Given the description of an element on the screen output the (x, y) to click on. 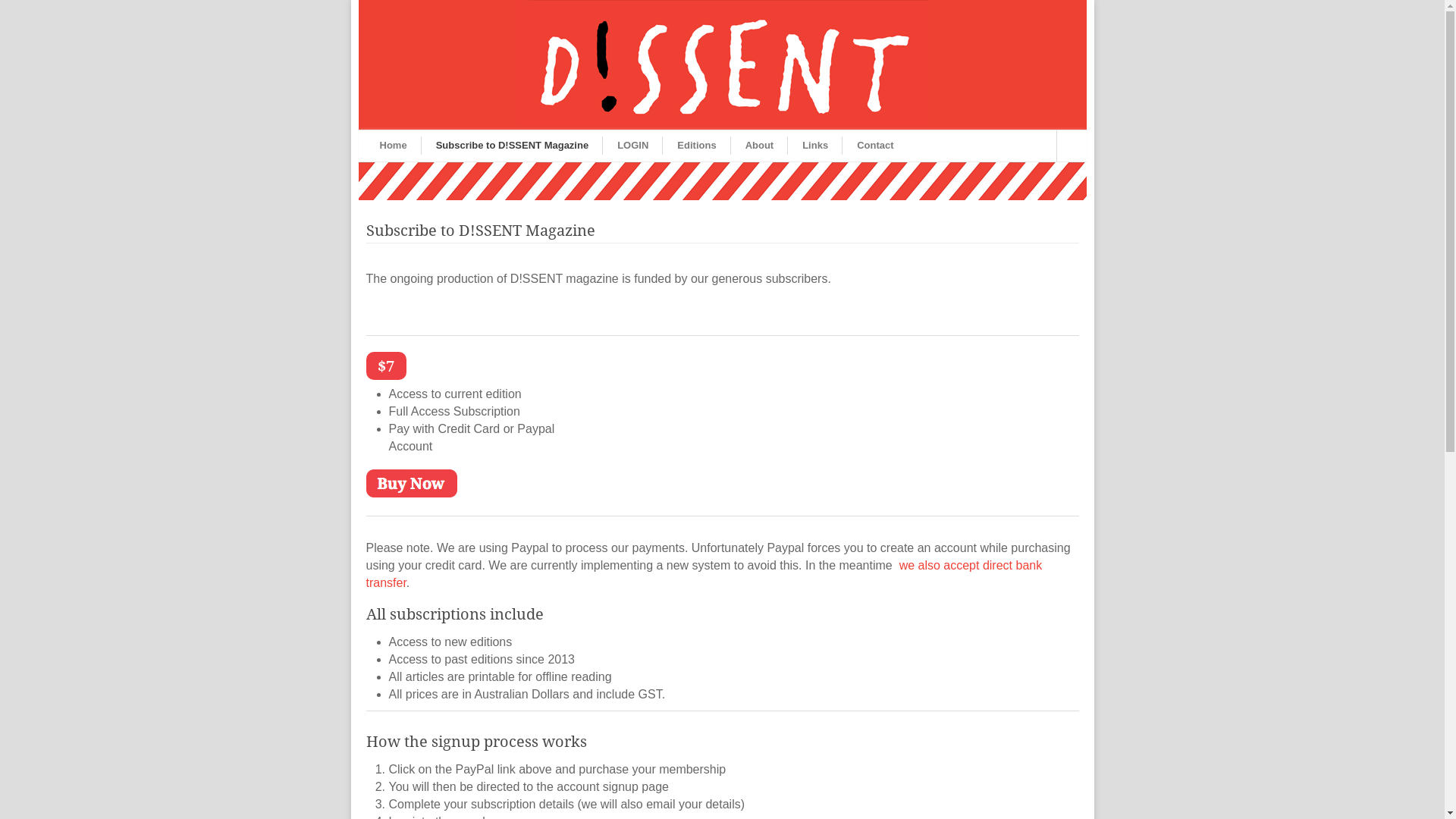
Contact Element type: text (874, 145)
Subscribe to D!SSENT Magazine Element type: text (512, 145)
LOGIN Element type: text (632, 145)
Home Element type: text (392, 145)
Links Element type: text (814, 145)
we also accept direct bank transfer Element type: text (703, 573)
About Element type: text (759, 145)
Editions Element type: text (696, 145)
